Given the description of an element on the screen output the (x, y) to click on. 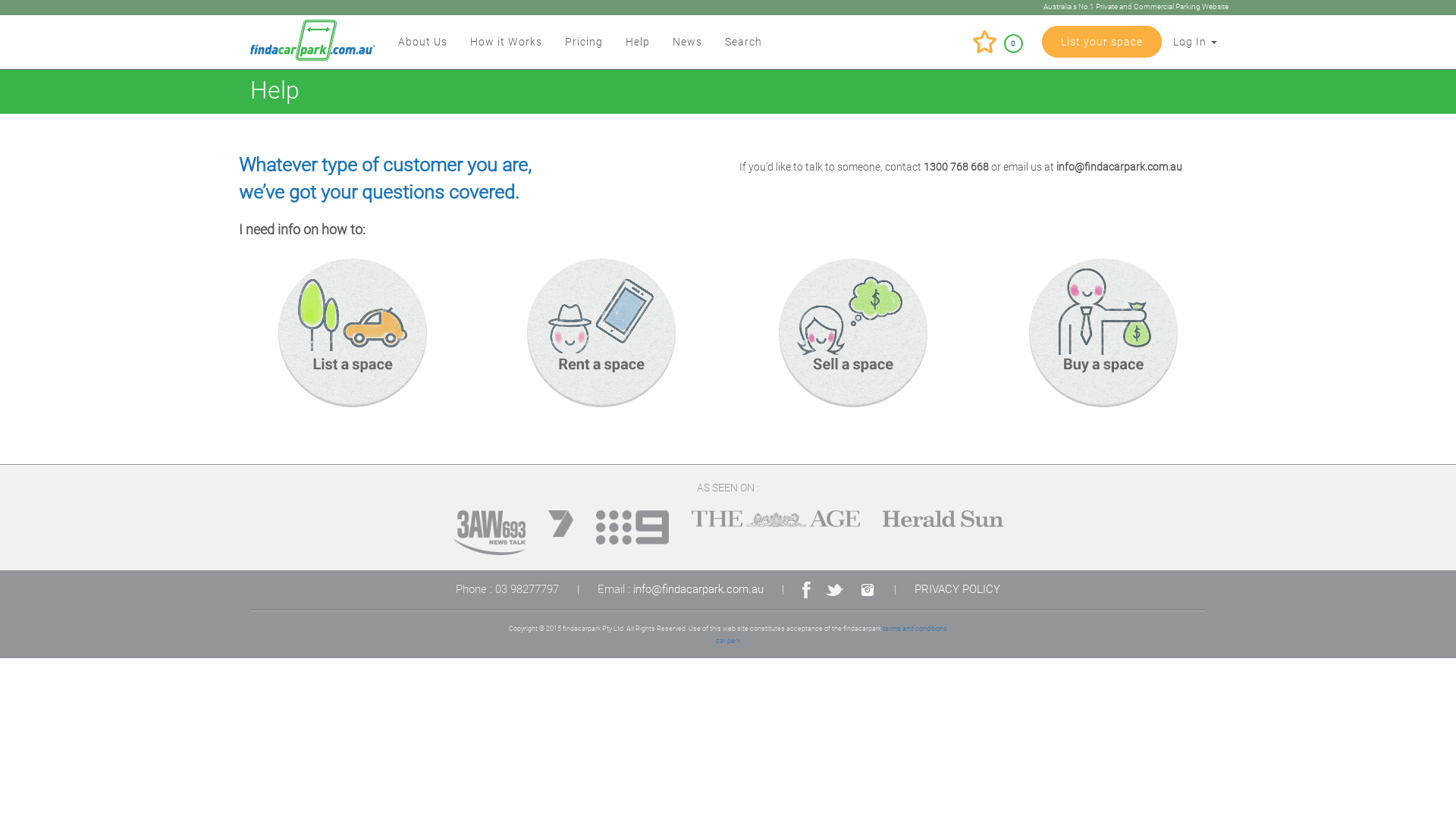
car park Element type: text (727, 640)
terms and conditions Element type: text (914, 628)
0 Element type: text (997, 34)
News Element type: text (687, 41)
Search Element type: text (743, 41)
How it Works Element type: text (505, 41)
Log In Element type: text (1194, 41)
PRIVACY POLICY Element type: text (957, 589)
Help Element type: text (637, 41)
info@findacarpark.com.au Element type: text (698, 589)
About Us Element type: text (422, 41)
Pricing Element type: text (583, 41)
List your space Element type: text (1101, 41)
